Given the description of an element on the screen output the (x, y) to click on. 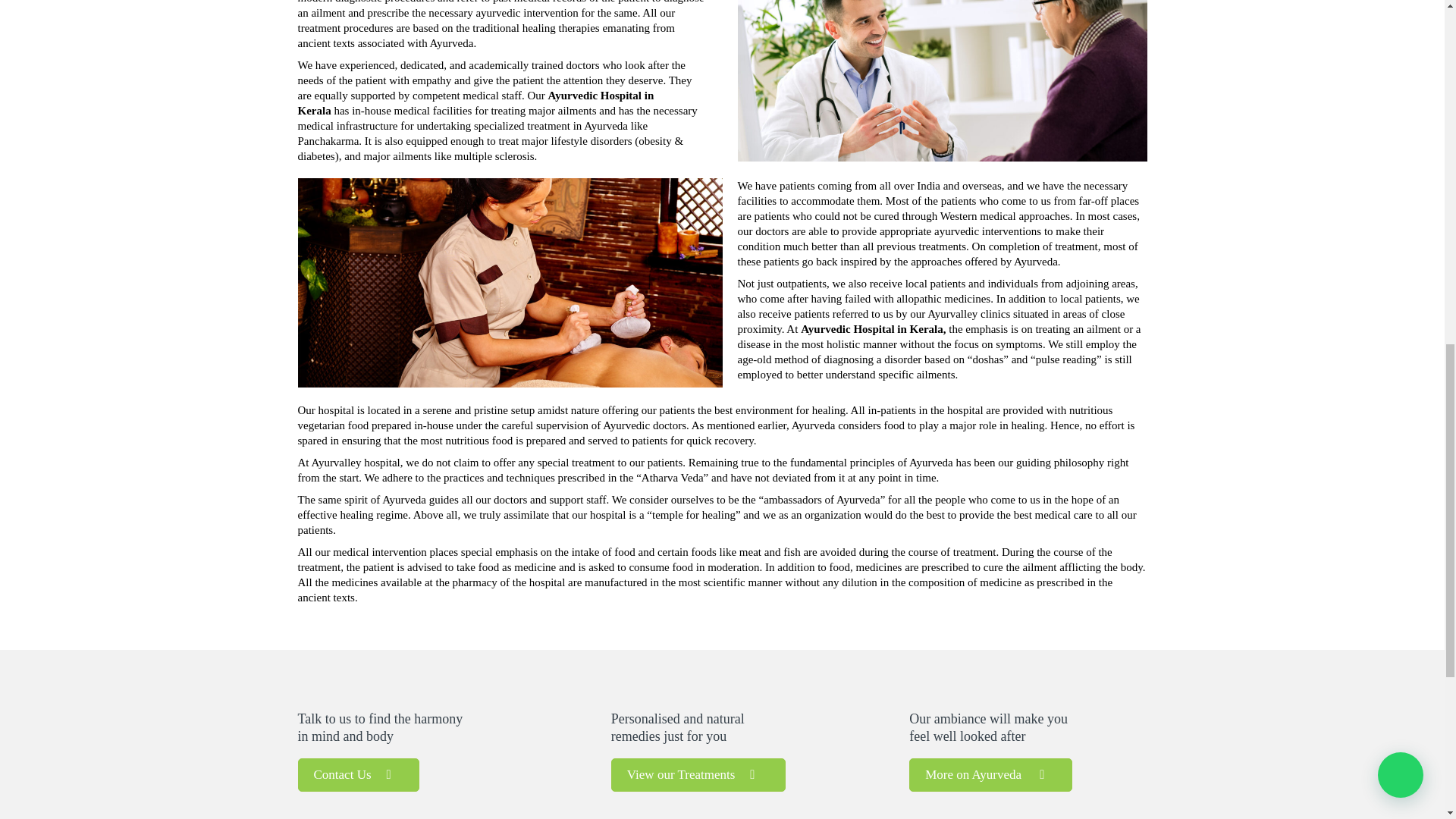
View our Treatments (698, 774)
More on Ayurveda (989, 774)
Contact Us (358, 774)
